Given the description of an element on the screen output the (x, y) to click on. 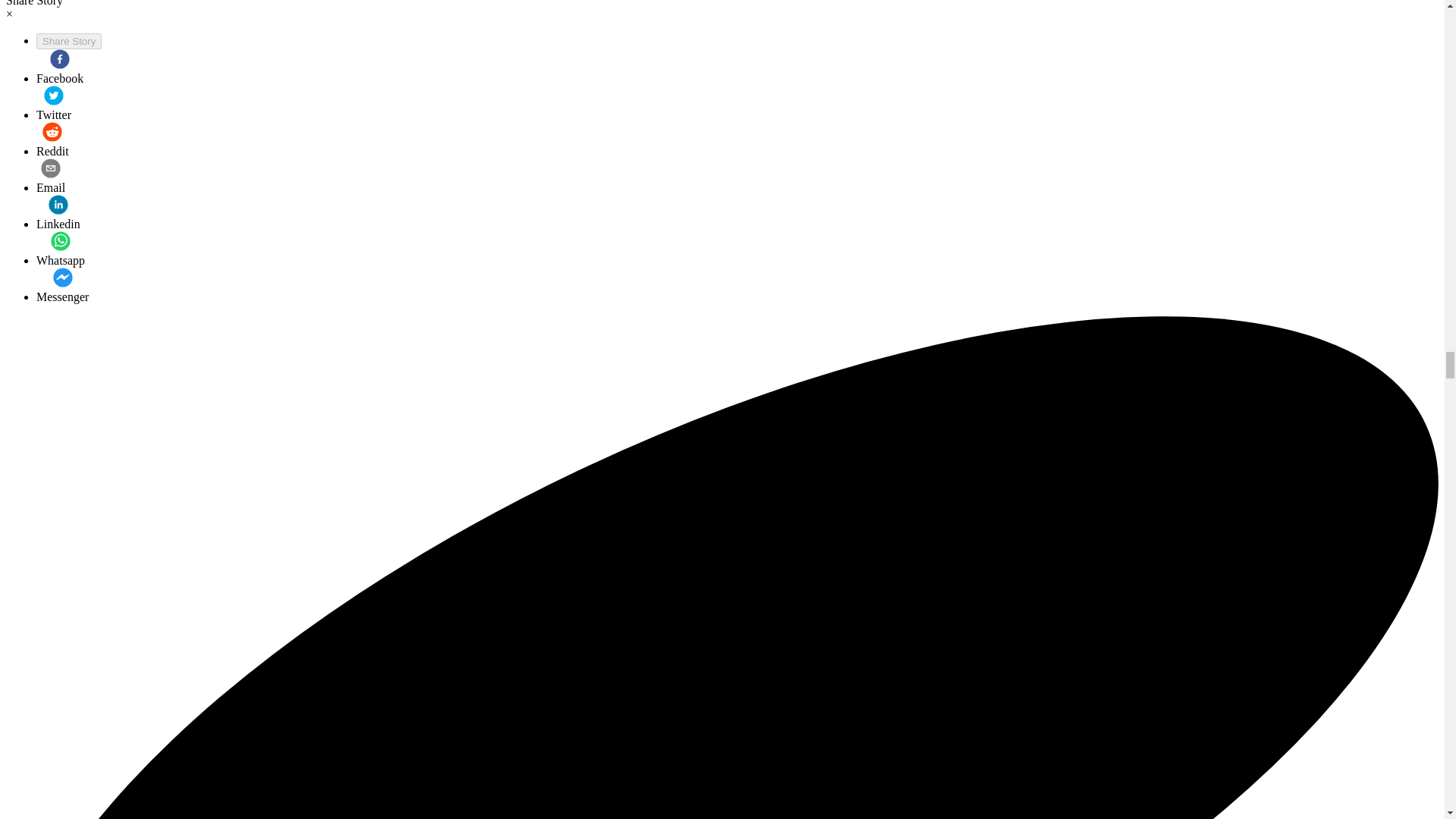
Facebook (59, 67)
Share Story (68, 41)
